Given the description of an element on the screen output the (x, y) to click on. 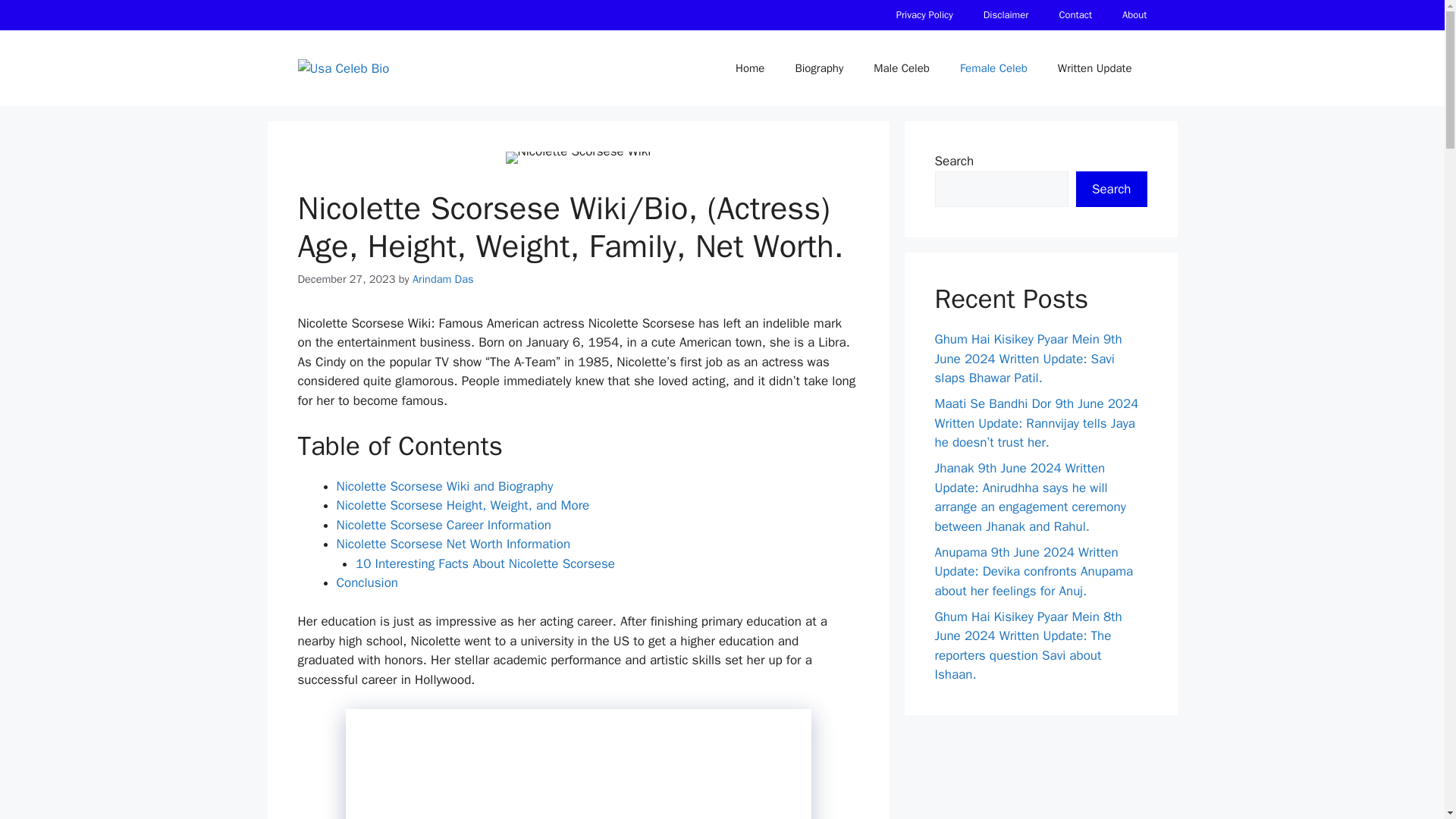
Home (749, 67)
Written Update (1094, 67)
Disclaimer (1005, 15)
Privacy Policy (924, 15)
About (1133, 15)
Contact (1074, 15)
Nicolette Scorsese Height, Weight, and More (462, 505)
Nicolette Scorsese Net Worth Information (453, 544)
Conclusion (366, 582)
View all posts by Arindam Das (442, 278)
Nicolette Scorsese Wiki and Biography (444, 486)
Male Celeb (901, 67)
